Given the description of an element on the screen output the (x, y) to click on. 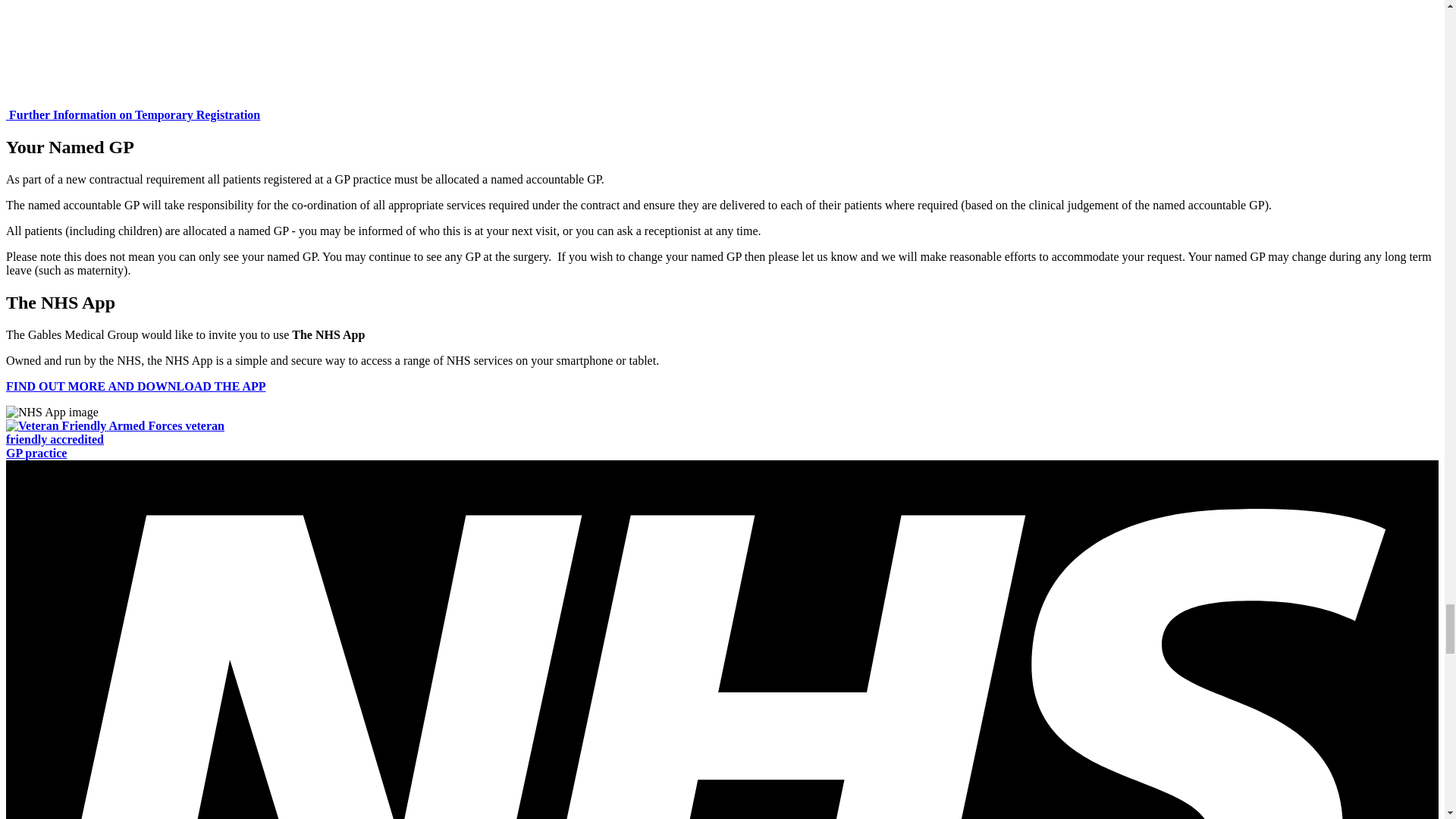
FIND OUT MORE AND DOWNLOAD THE APP (114, 439)
